Given the description of an element on the screen output the (x, y) to click on. 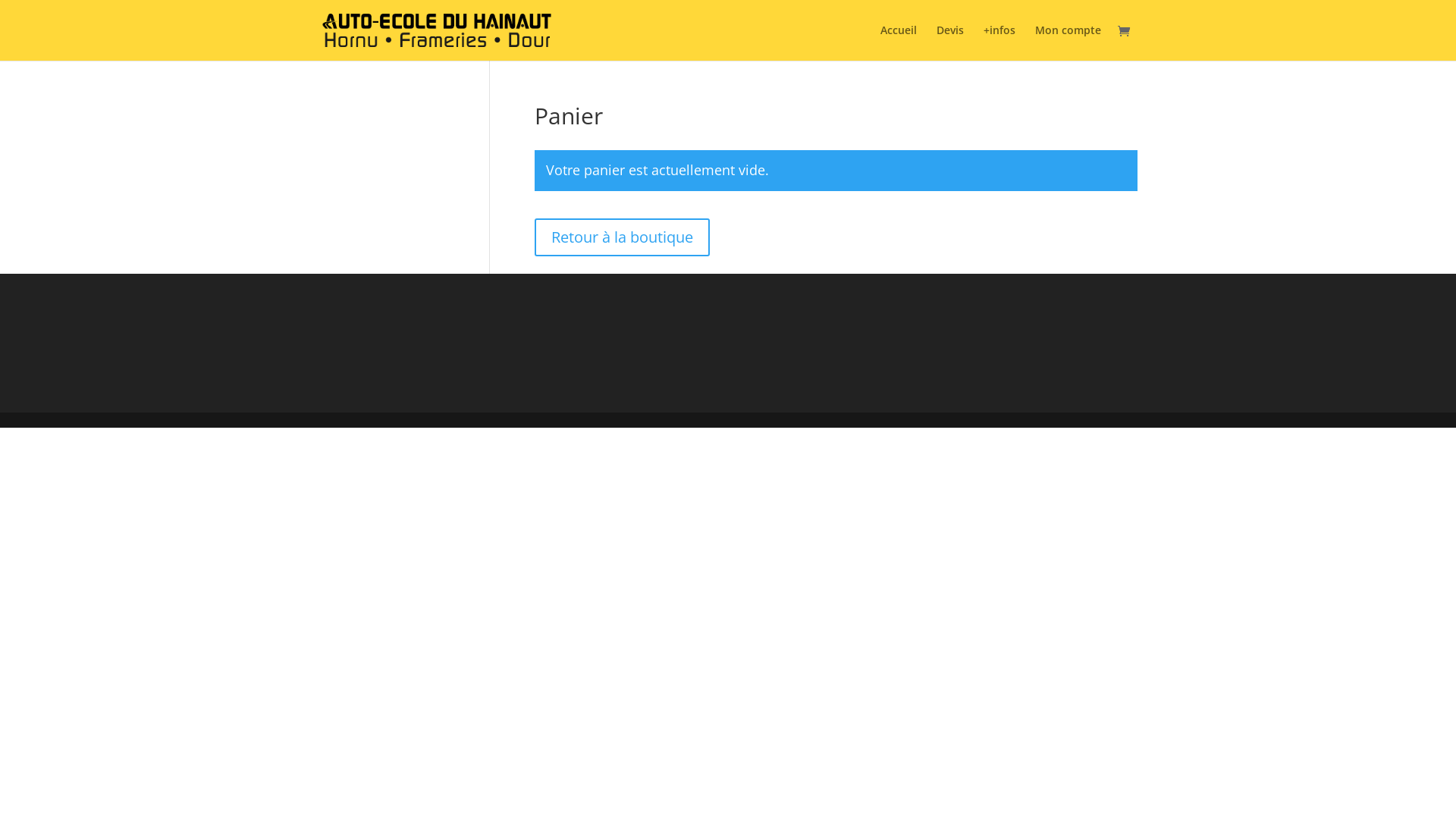
Accueil Element type: text (898, 42)
+infos Element type: text (999, 42)
Mon compte Element type: text (1068, 42)
Devis Element type: text (949, 42)
